Given the description of an element on the screen output the (x, y) to click on. 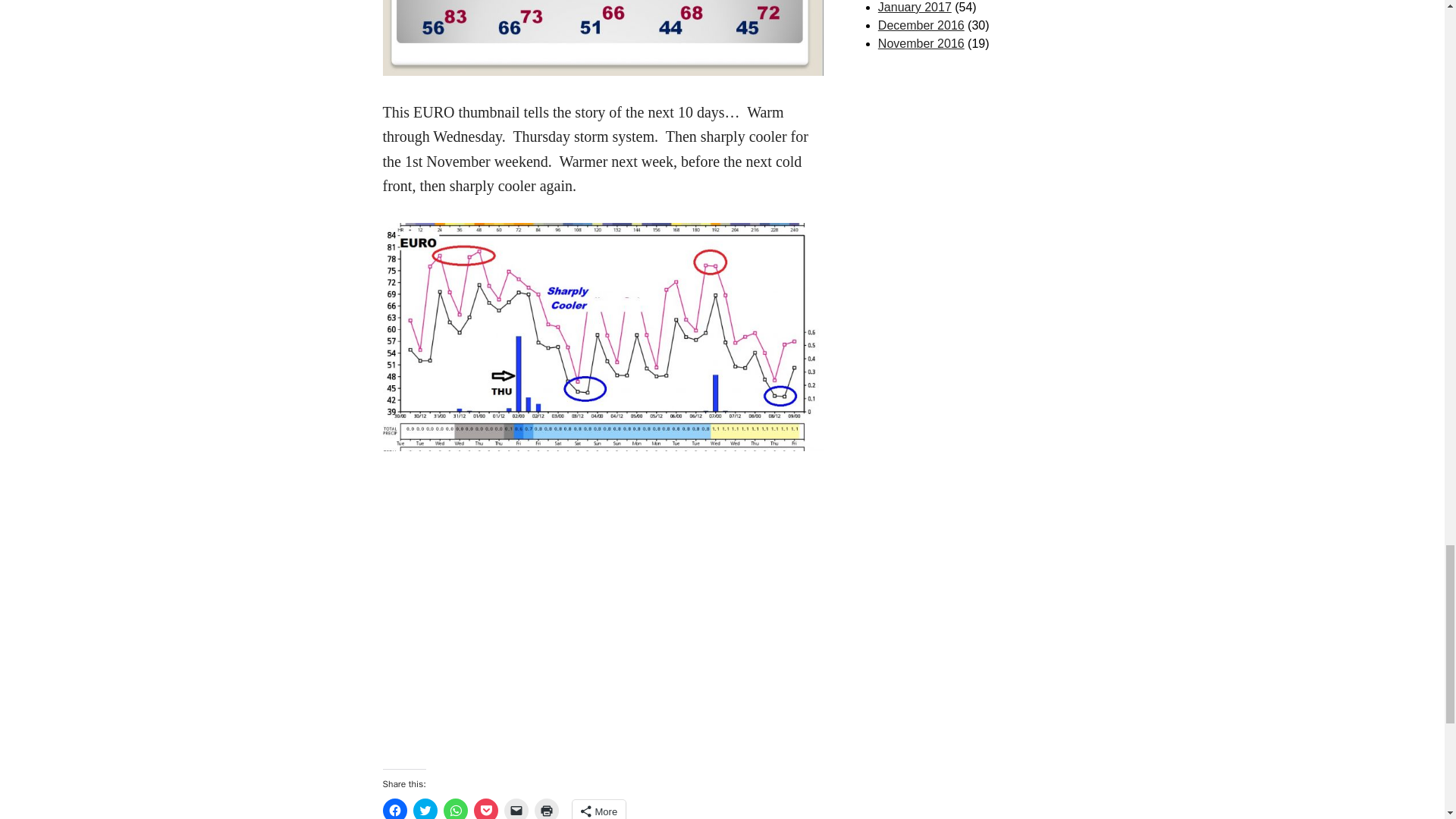
Click to share on WhatsApp (454, 808)
More (599, 809)
Click to print (545, 808)
Click to email a link to a friend (515, 808)
Click to share on Facebook (393, 808)
Click to share on Pocket (485, 808)
Click to share on Twitter (424, 808)
